Given the description of an element on the screen output the (x, y) to click on. 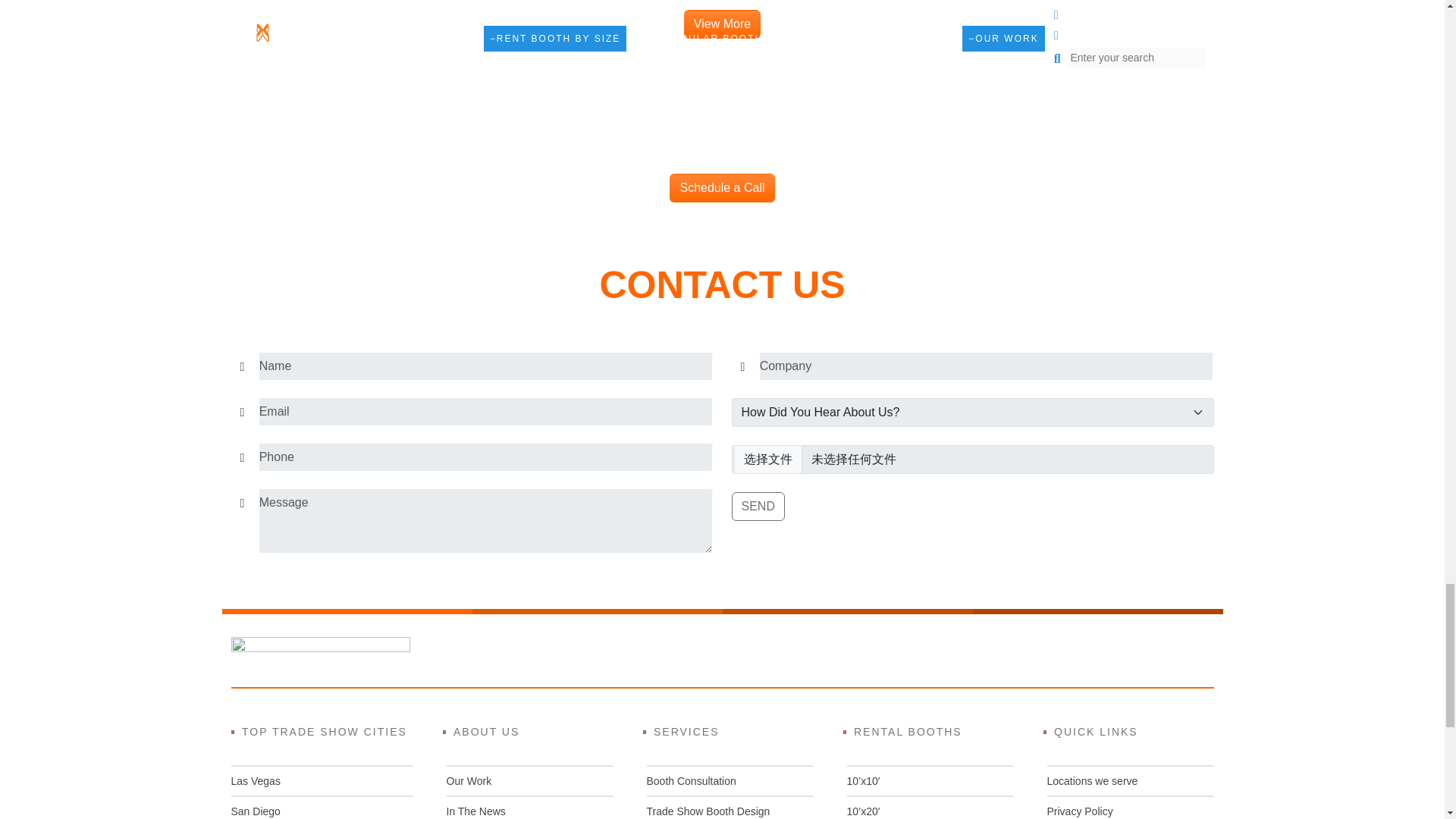
SEND (757, 506)
